Given the description of an element on the screen output the (x, y) to click on. 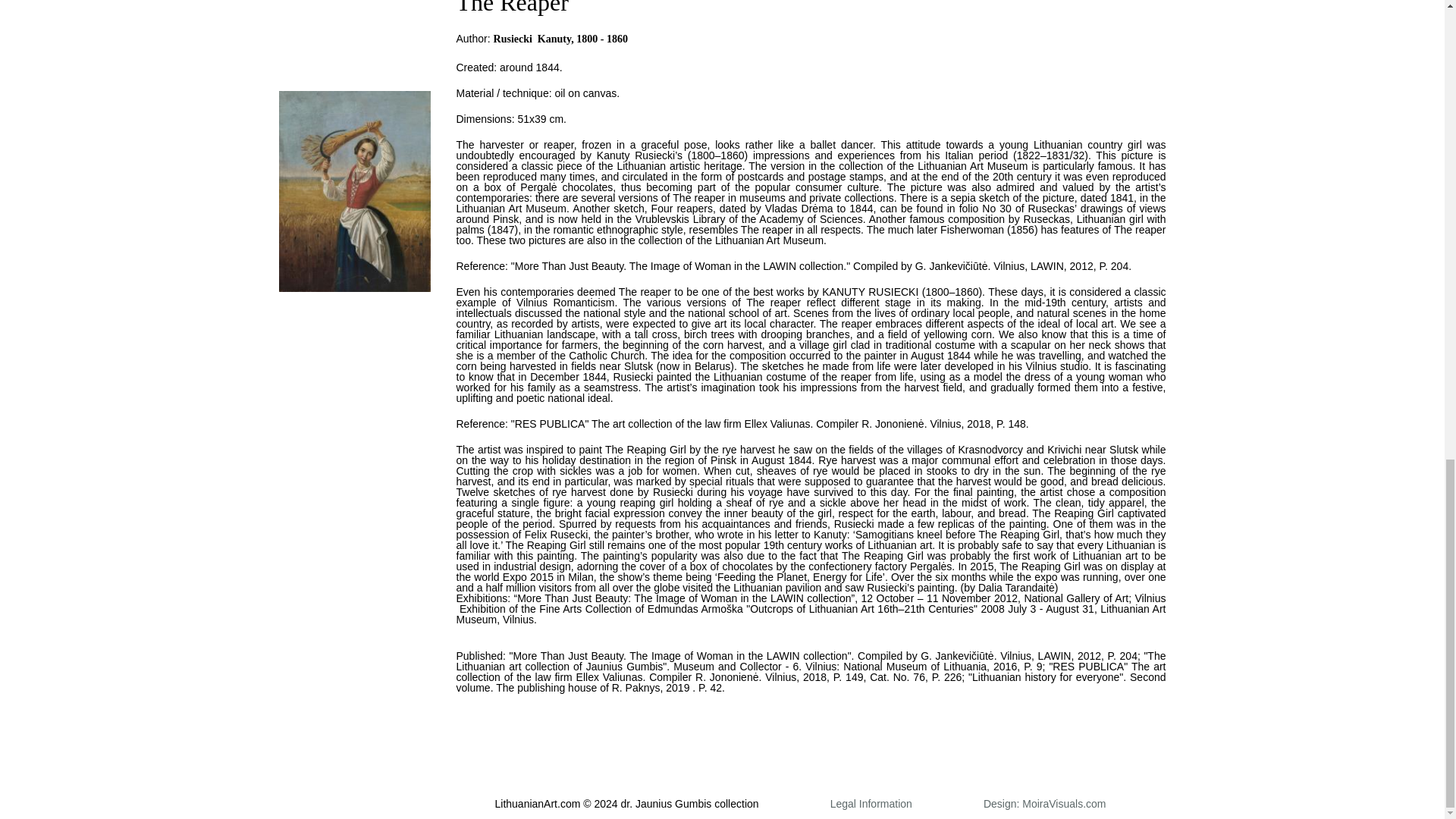
Design: MoiraVisuals.com (1045, 803)
Rusiecki  Kanuty, 1800 - 1860 (560, 38)
Legal Information (870, 803)
Legal Information (870, 803)
Design: MoiraVisuals.com (1045, 803)
